Given the description of an element on the screen output the (x, y) to click on. 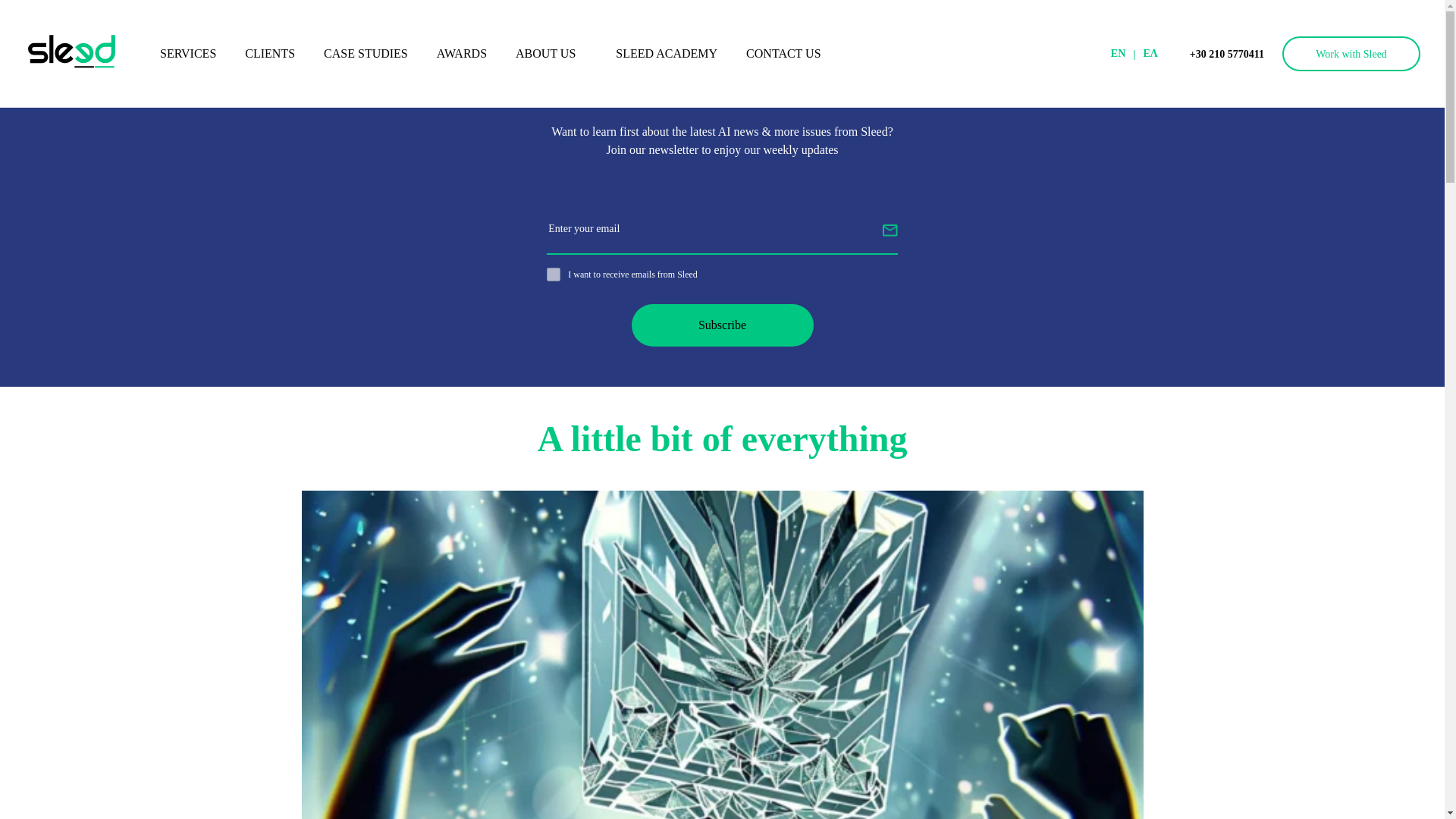
ABOUT US (551, 52)
CASE STUDIES (365, 52)
EN (1117, 53)
Sleed (77, 53)
1 (553, 274)
SLEED ACADEMY (665, 52)
AWARDS (461, 52)
AI Blog (42, 15)
SERVICES (187, 52)
